Given the description of an element on the screen output the (x, y) to click on. 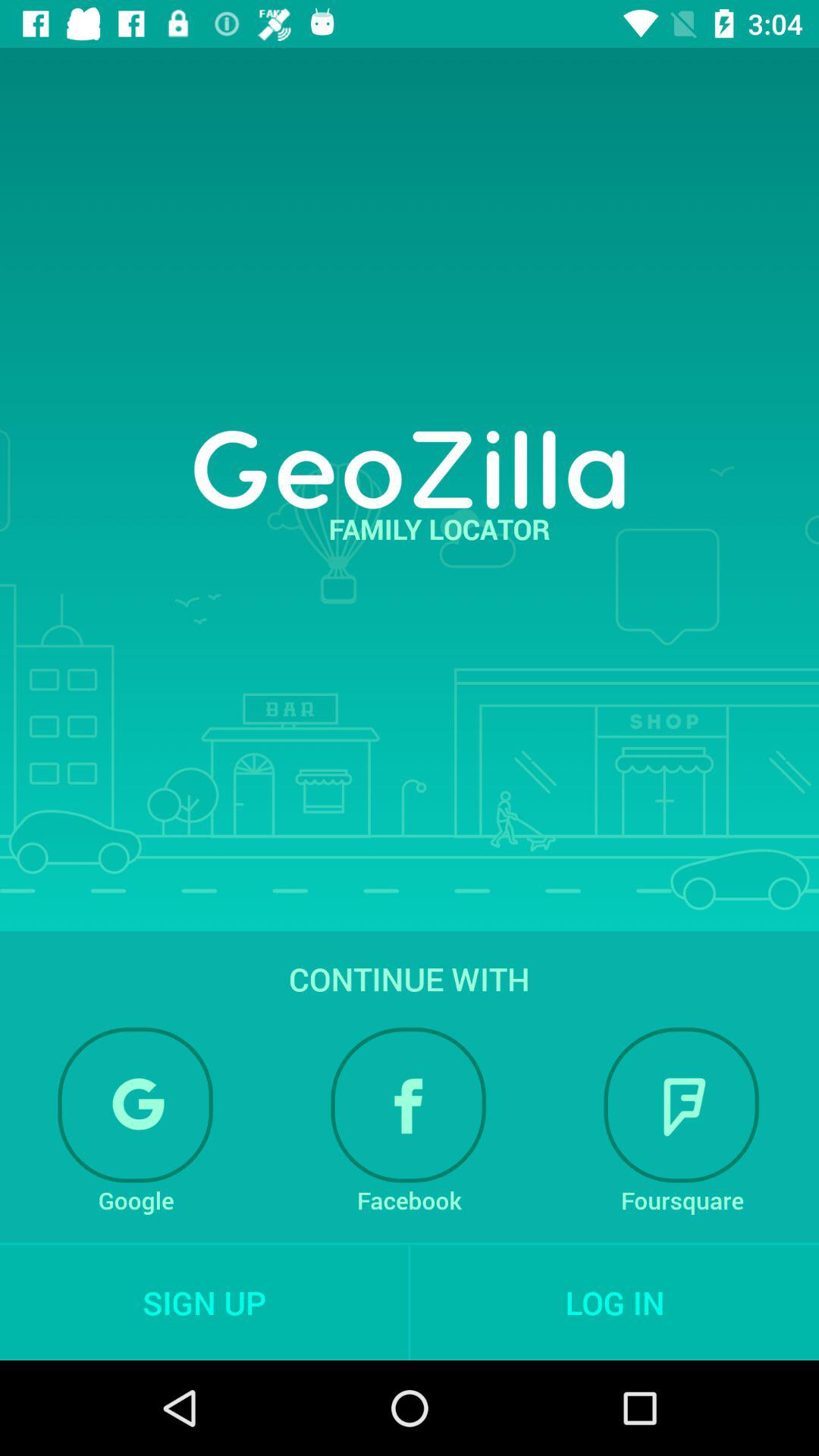
flip until log in (614, 1302)
